Given the description of an element on the screen output the (x, y) to click on. 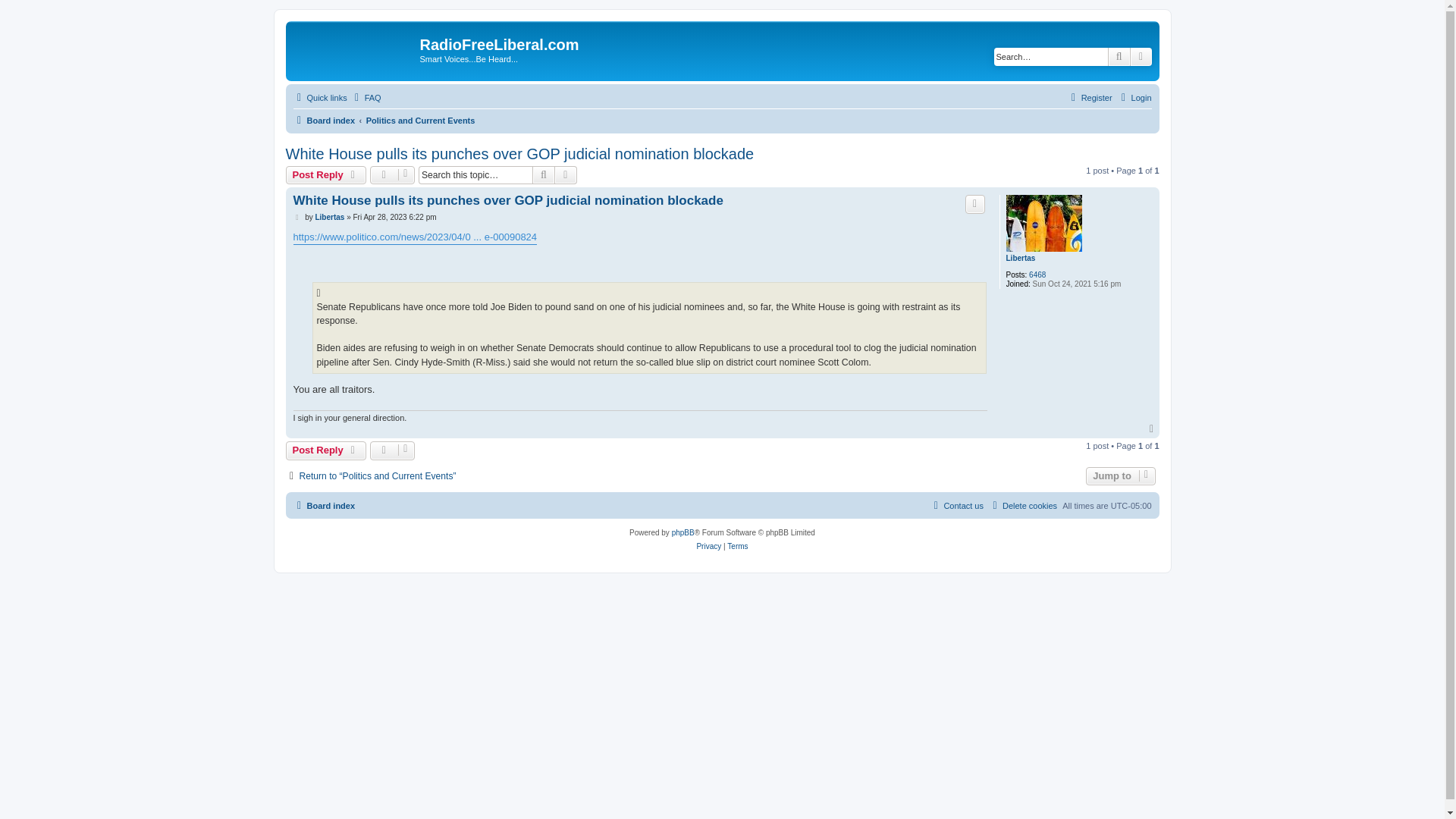
Login (1134, 97)
Board index (323, 120)
Search (543, 175)
Quick links (319, 97)
Login (1134, 97)
Topic tools (391, 175)
6468 (1037, 275)
Register (1089, 97)
FAQ (365, 97)
Post a reply (325, 175)
